Given the description of an element on the screen output the (x, y) to click on. 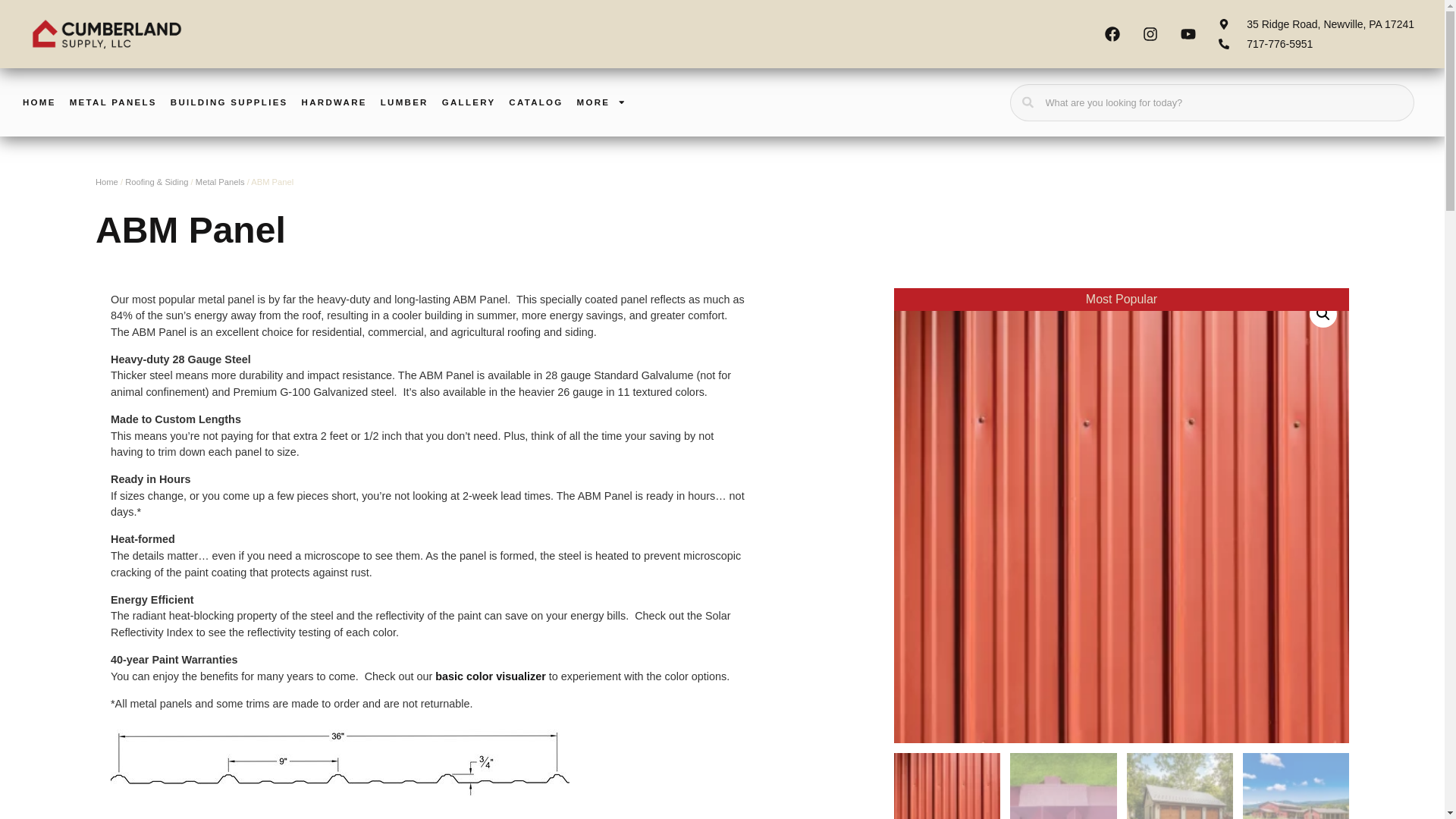
BUILDING SUPPLIES (229, 101)
HARDWARE (333, 101)
METAL PANELS (113, 101)
Home (106, 181)
35 Ridge Road, Newville, PA 17241 (1315, 24)
717-776-5951 (1315, 44)
